Given the description of an element on the screen output the (x, y) to click on. 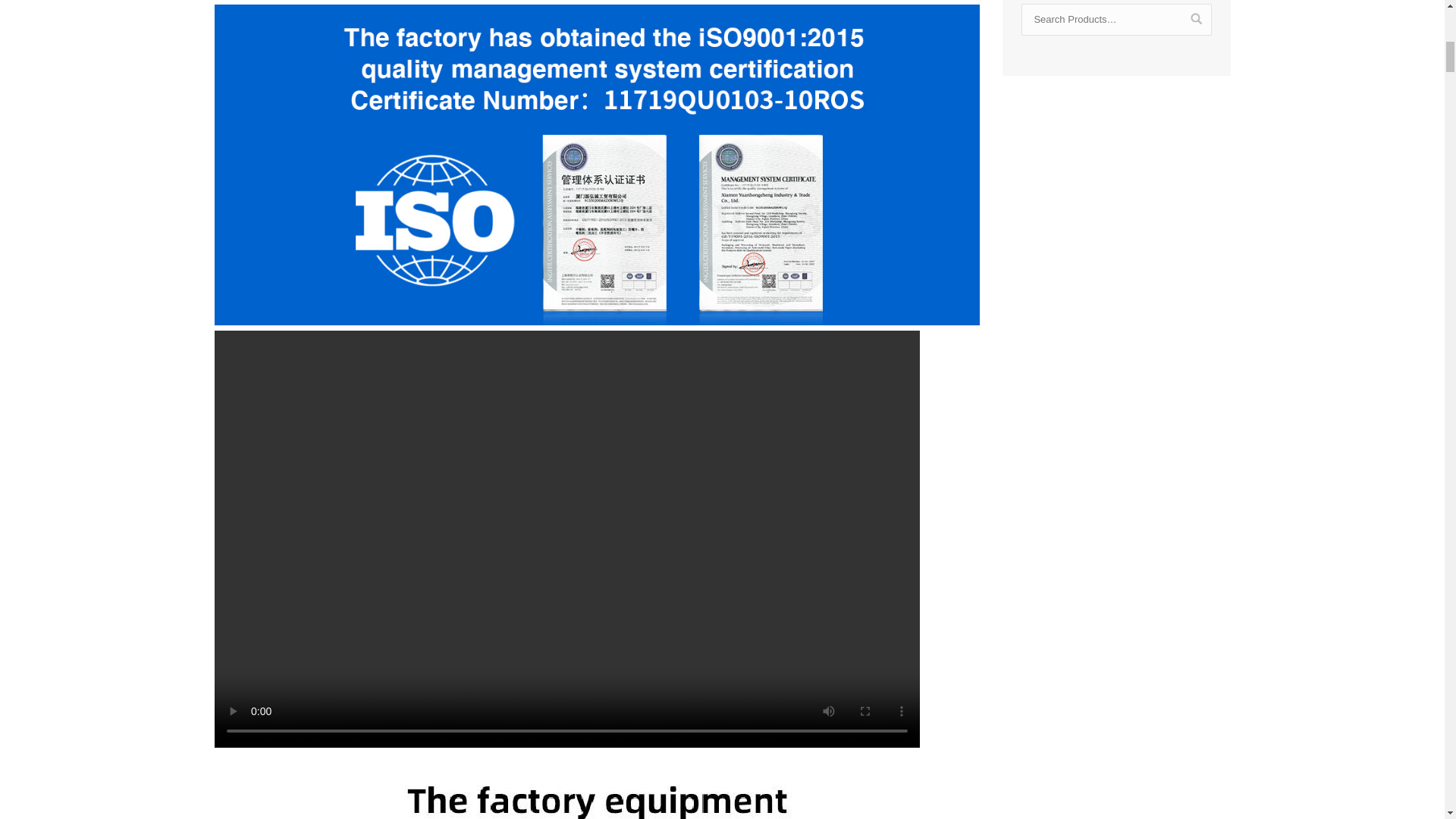
Search (1196, 18)
